Given the description of an element on the screen output the (x, y) to click on. 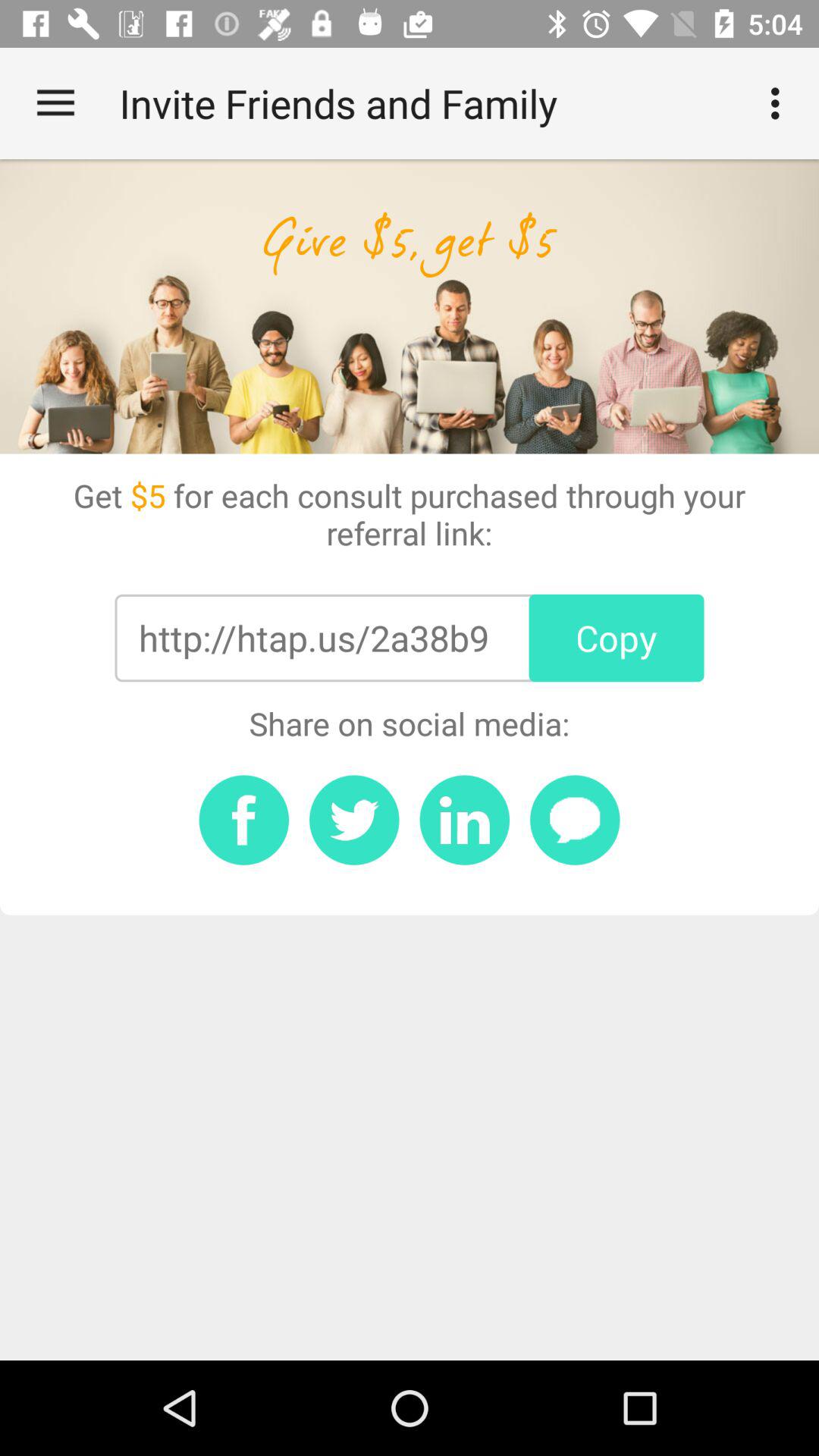
facebook icon (243, 820)
